Given the description of an element on the screen output the (x, y) to click on. 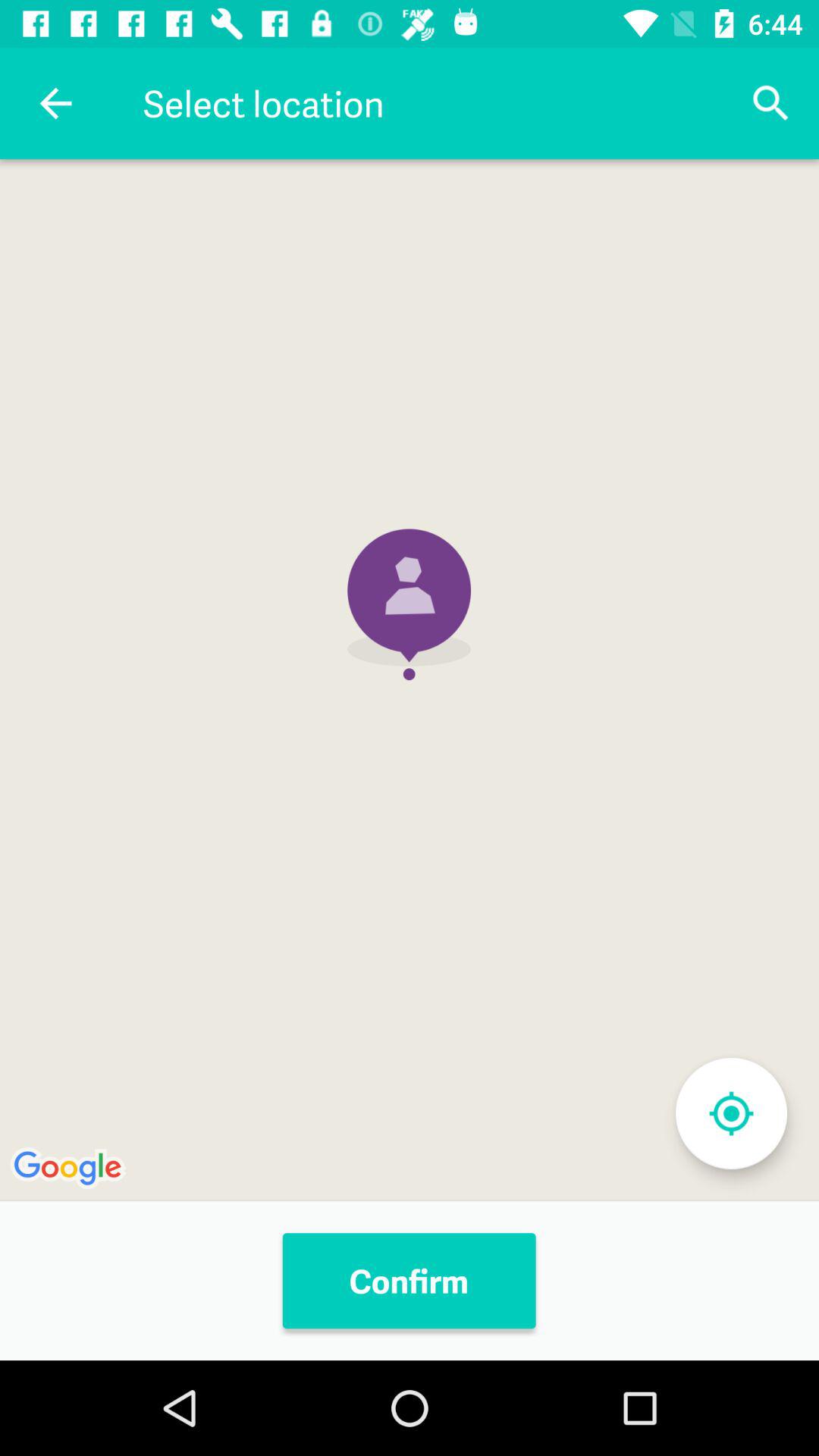
extend screen (731, 1113)
